Given the description of an element on the screen output the (x, y) to click on. 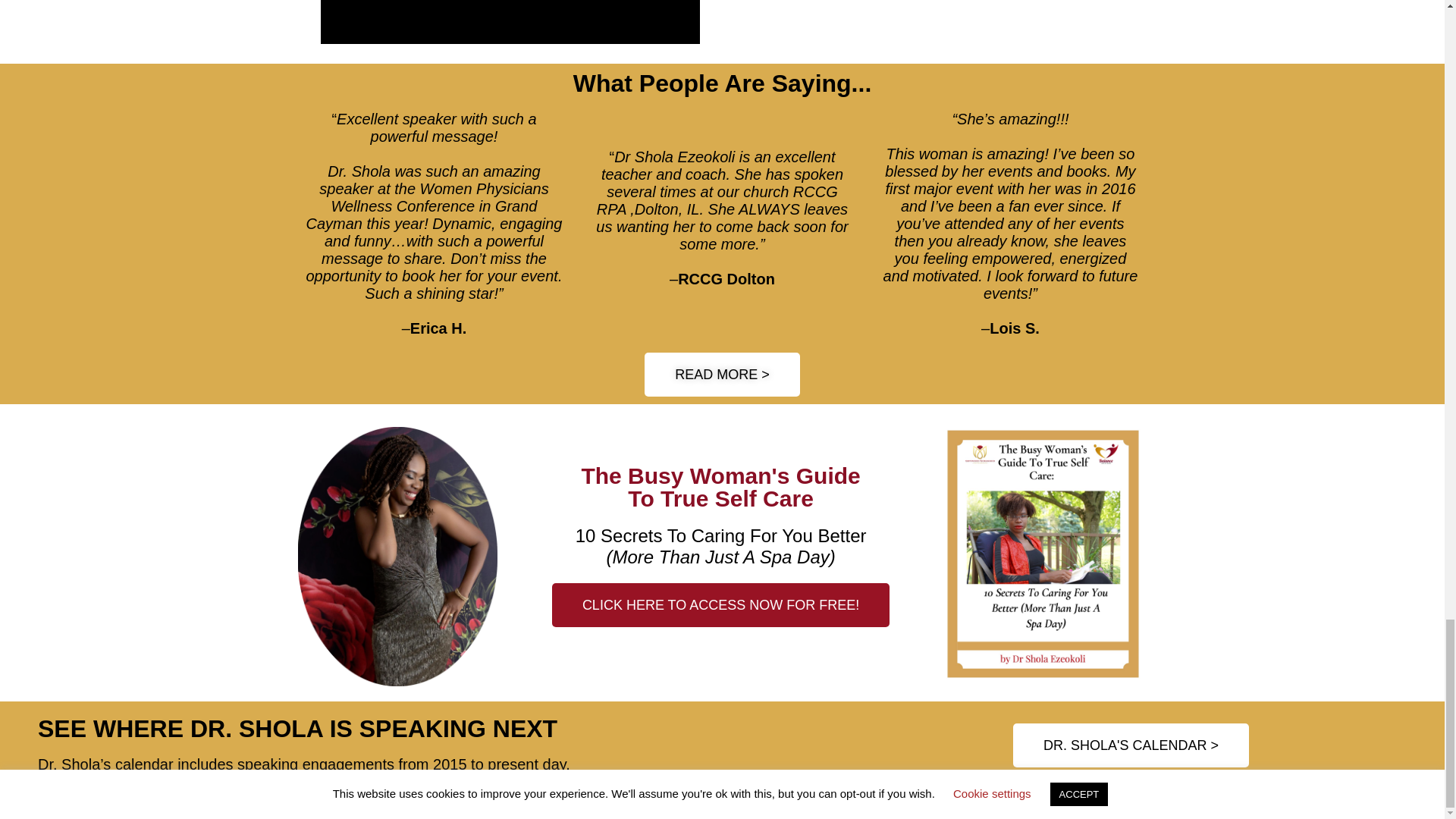
Privacy Policy (774, 803)
vimeo Video Player (509, 22)
Terms Of Use (862, 803)
CLICK HERE TO ACCESS NOW FOR FREE! (720, 605)
